Given the description of an element on the screen output the (x, y) to click on. 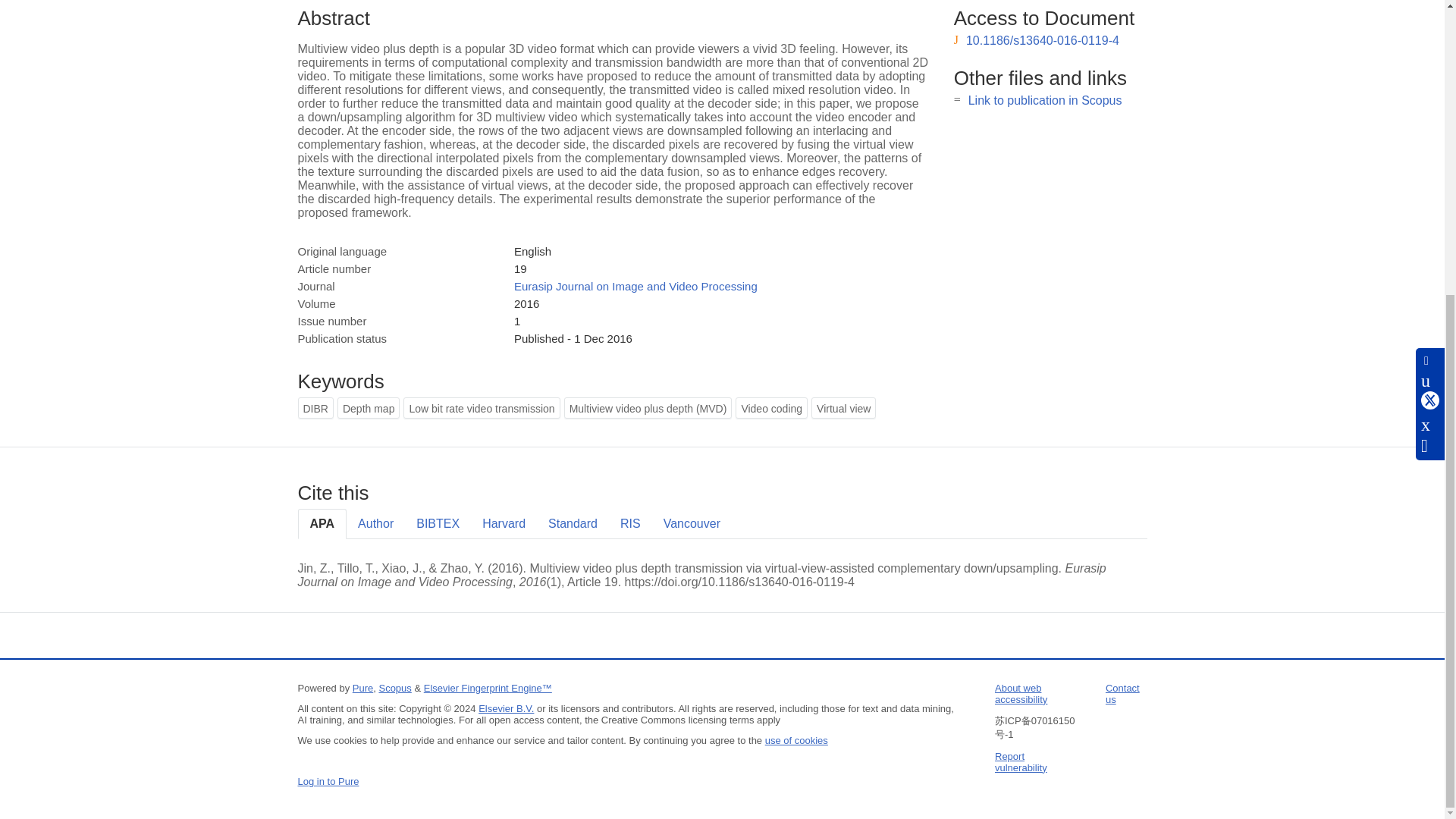
Scopus (394, 687)
Link to publication in Scopus (1045, 100)
use of cookies (796, 740)
Contact us (1122, 693)
Report vulnerability (1020, 762)
About web accessibility (1020, 693)
Log in to Pure (327, 781)
Pure (362, 687)
Elsevier B.V. (506, 708)
Eurasip Journal on Image and Video Processing (635, 286)
